Given the description of an element on the screen output the (x, y) to click on. 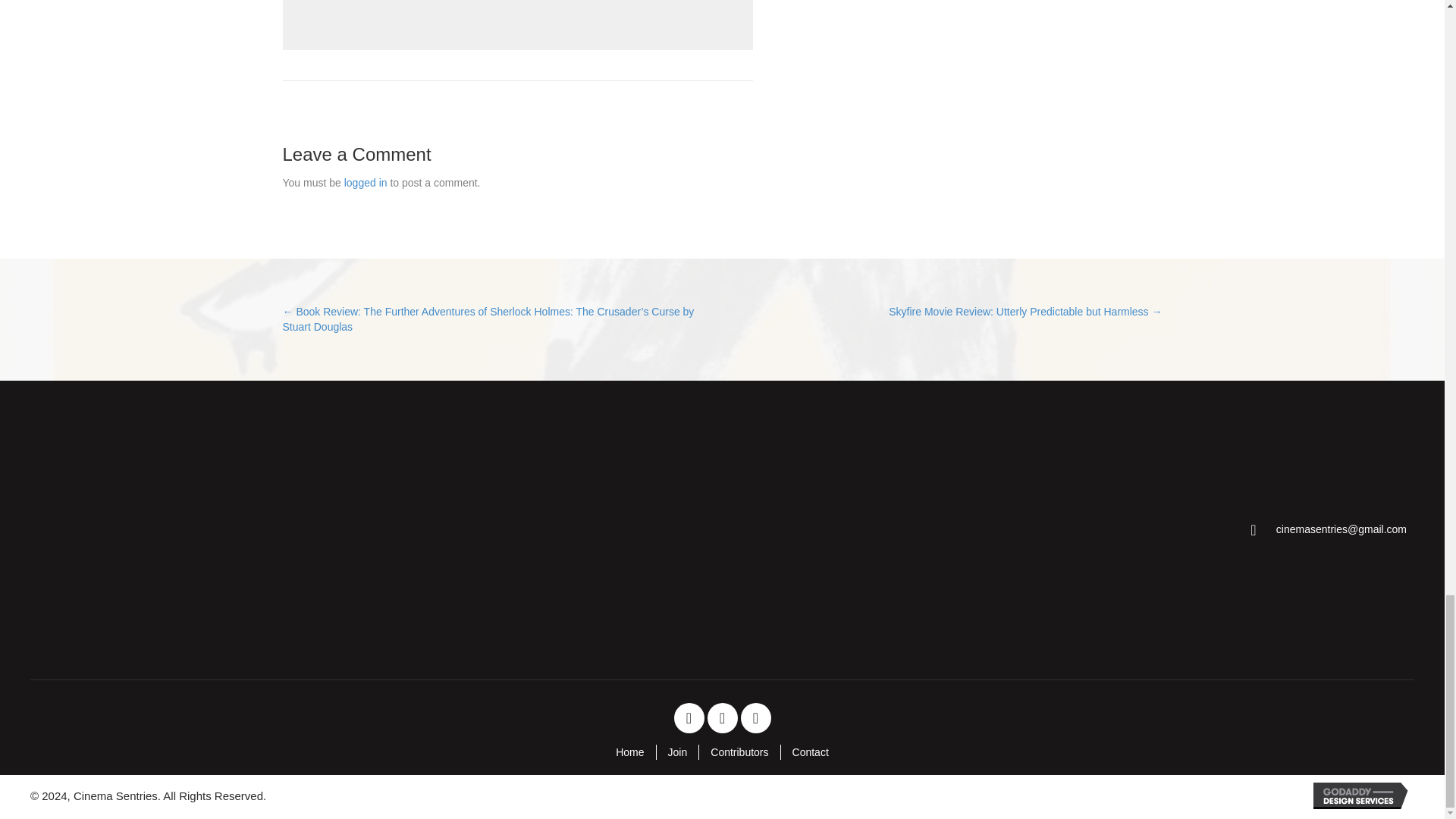
Twitter (721, 717)
Facebook (687, 717)
logged in (365, 182)
Cinema Sentries (148, 530)
Instagram (754, 717)
